Given the description of an element on the screen output the (x, y) to click on. 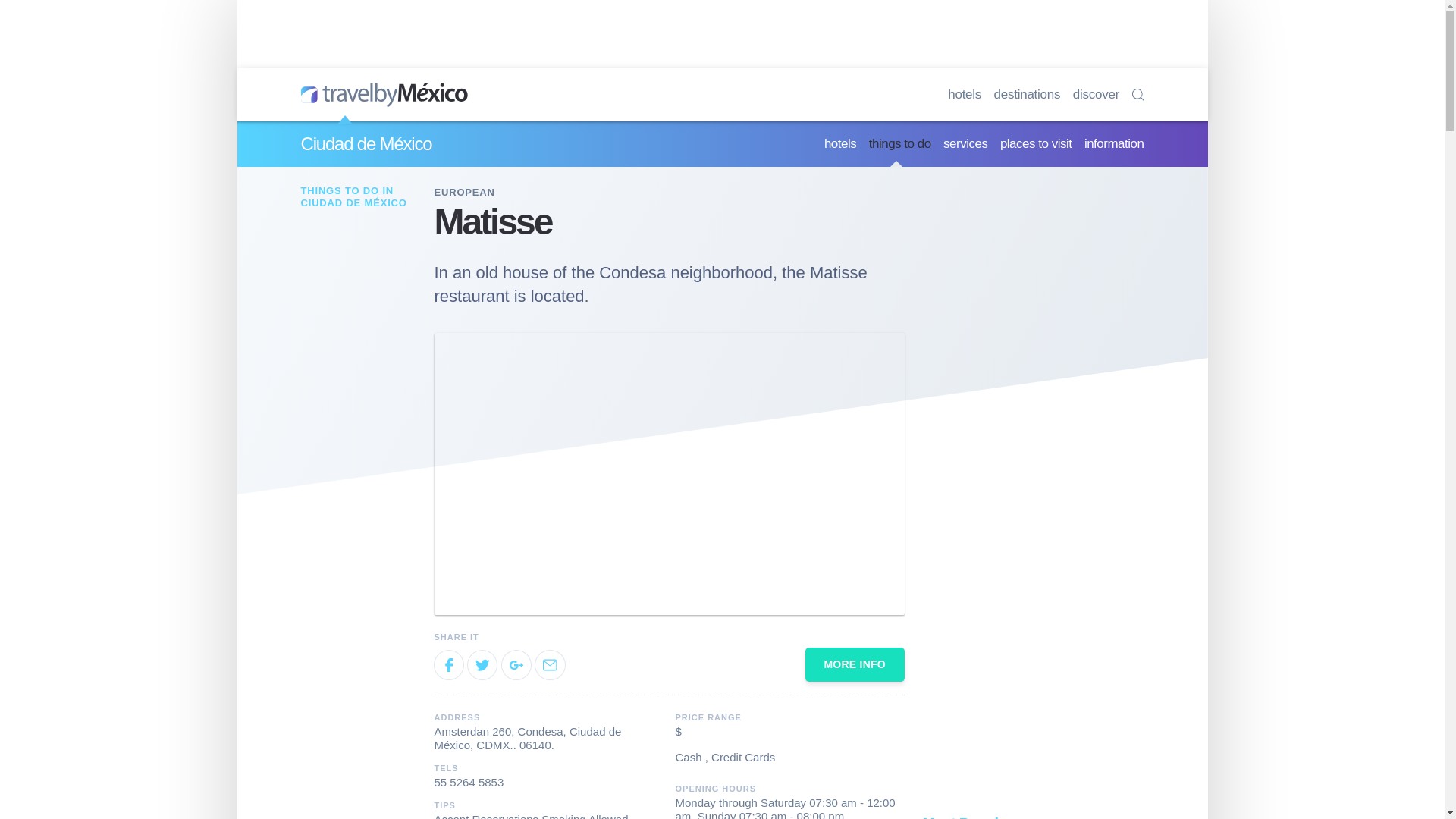
discover (1096, 94)
Facebook (448, 664)
things to do (900, 144)
services (965, 144)
Twitter (481, 664)
places to visit (1035, 144)
Email (549, 664)
destinations (1027, 94)
hotels (964, 94)
hotels (840, 144)
